Given the description of an element on the screen output the (x, y) to click on. 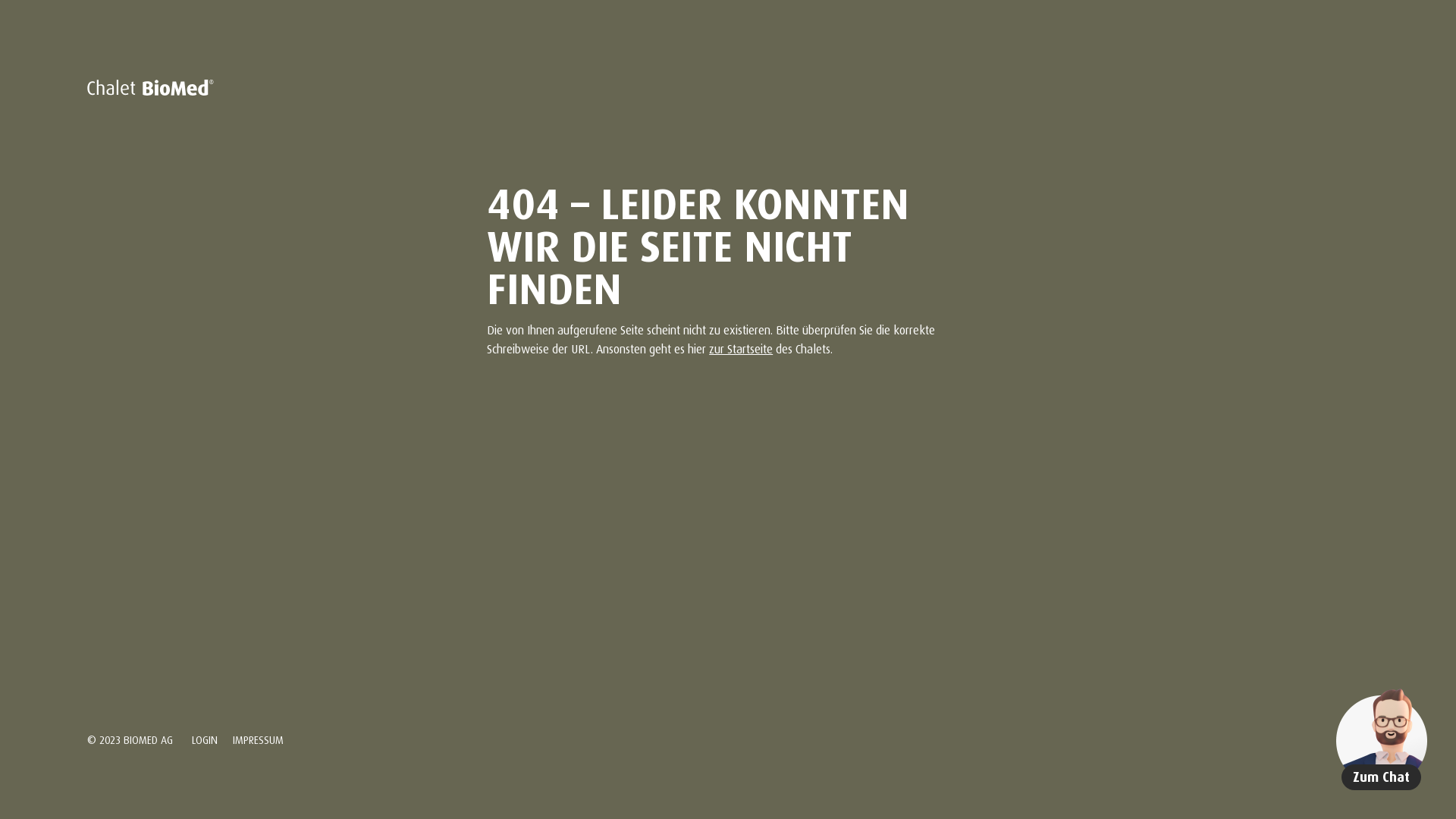
LOGIN Element type: text (204, 738)
IMPRESSUM Element type: text (258, 738)
zur Startseite Element type: text (740, 346)
Zum Chat Element type: text (1381, 737)
